Given the description of an element on the screen output the (x, y) to click on. 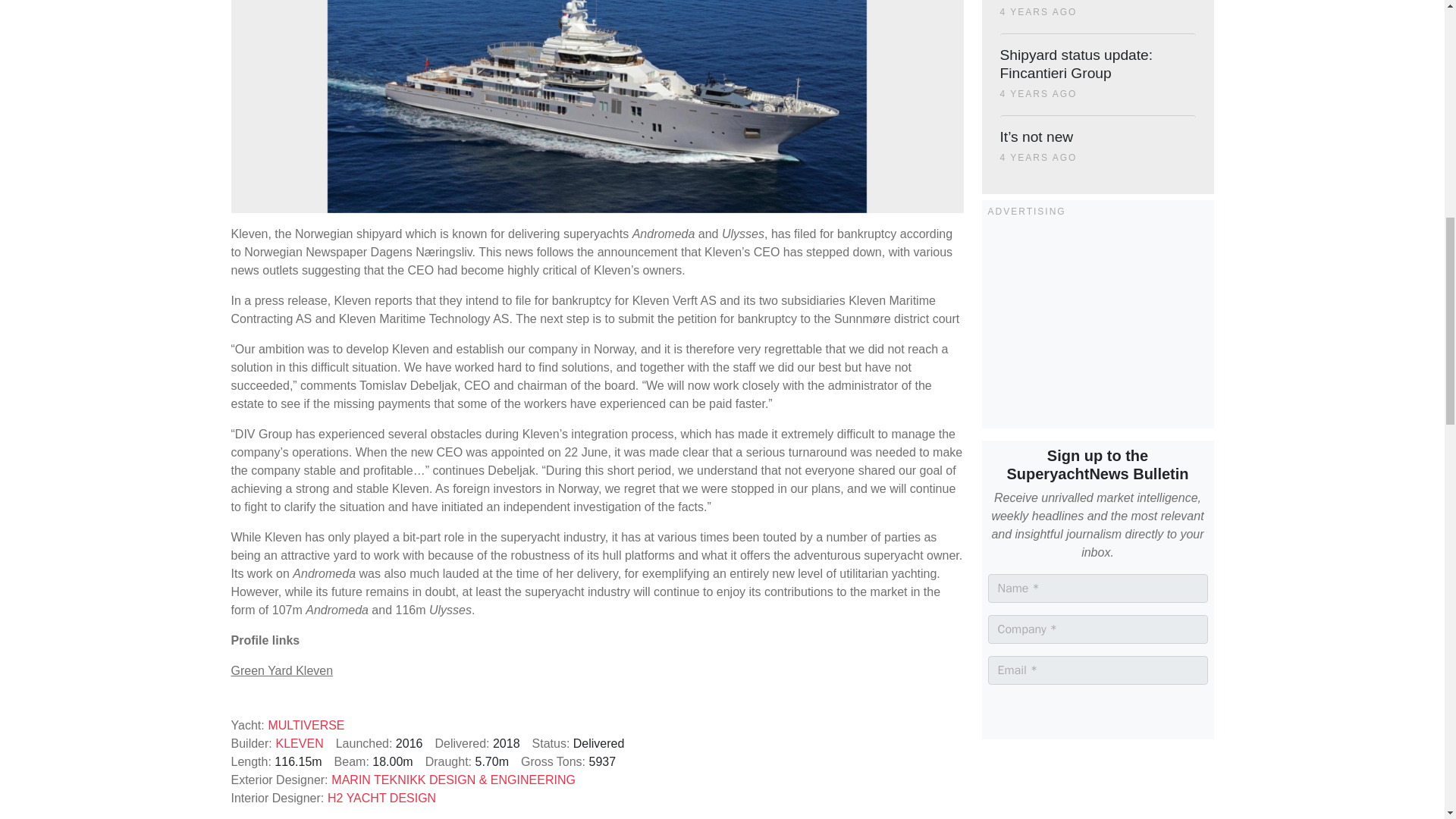
KLEVEN (299, 743)
H2 YACHT DESIGN (381, 797)
MULTIVERSE (305, 725)
Green Yard Kleven (281, 670)
